Given the description of an element on the screen output the (x, y) to click on. 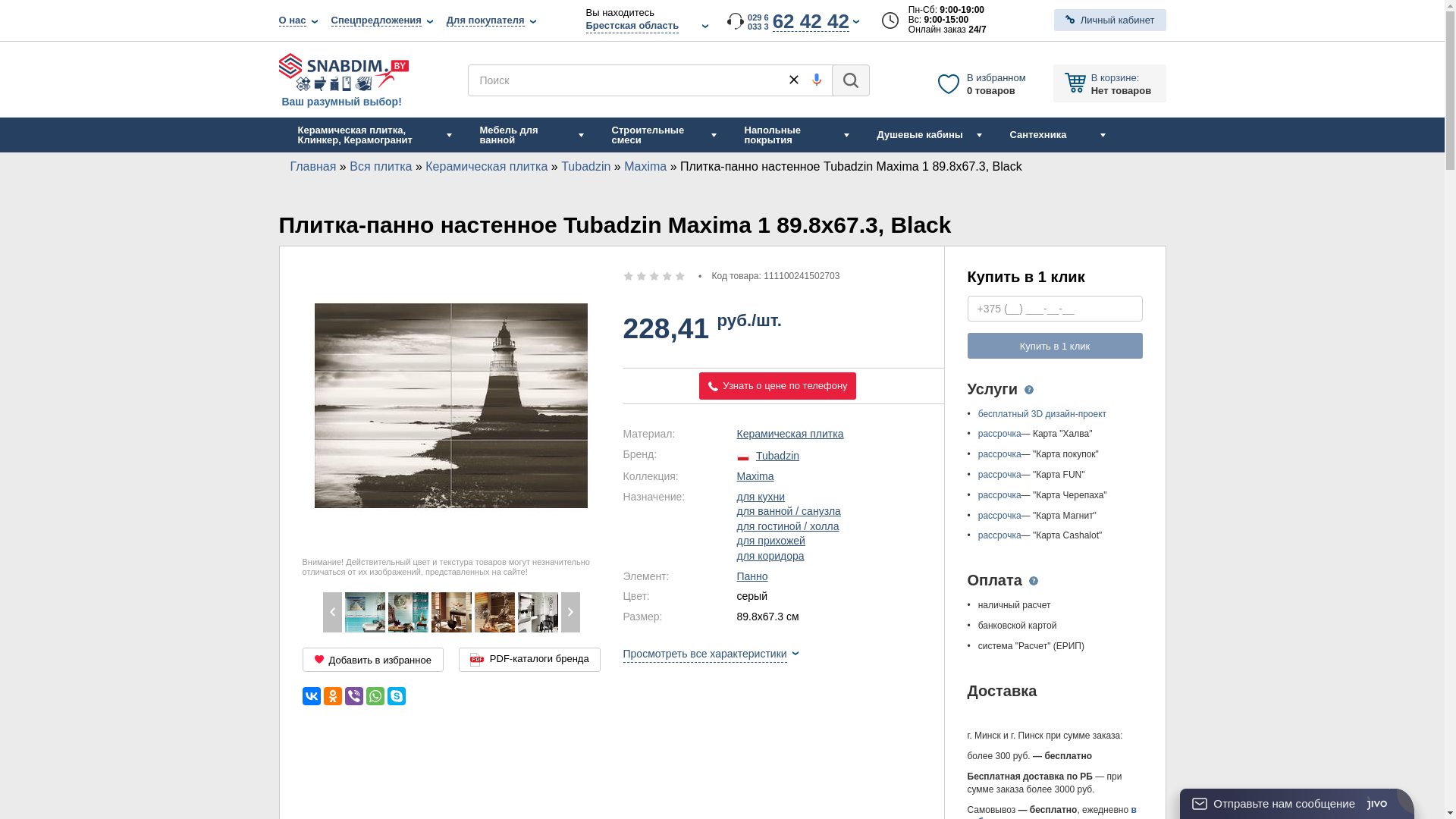
Maxima Element type: hover (536, 612)
Tubadzin Element type: text (777, 455)
Maxima Element type: hover (407, 612)
Maxima Element type: hover (363, 612)
Next Element type: text (570, 612)
Previous Element type: text (332, 612)
Maxima Element type: hover (450, 612)
Maxima Element type: hover (494, 612)
Maxima Element type: text (755, 476)
Maxima Element type: text (645, 166)
Maxima Element type: hover (321, 612)
Tubadzin Element type: text (585, 166)
